Given the description of an element on the screen output the (x, y) to click on. 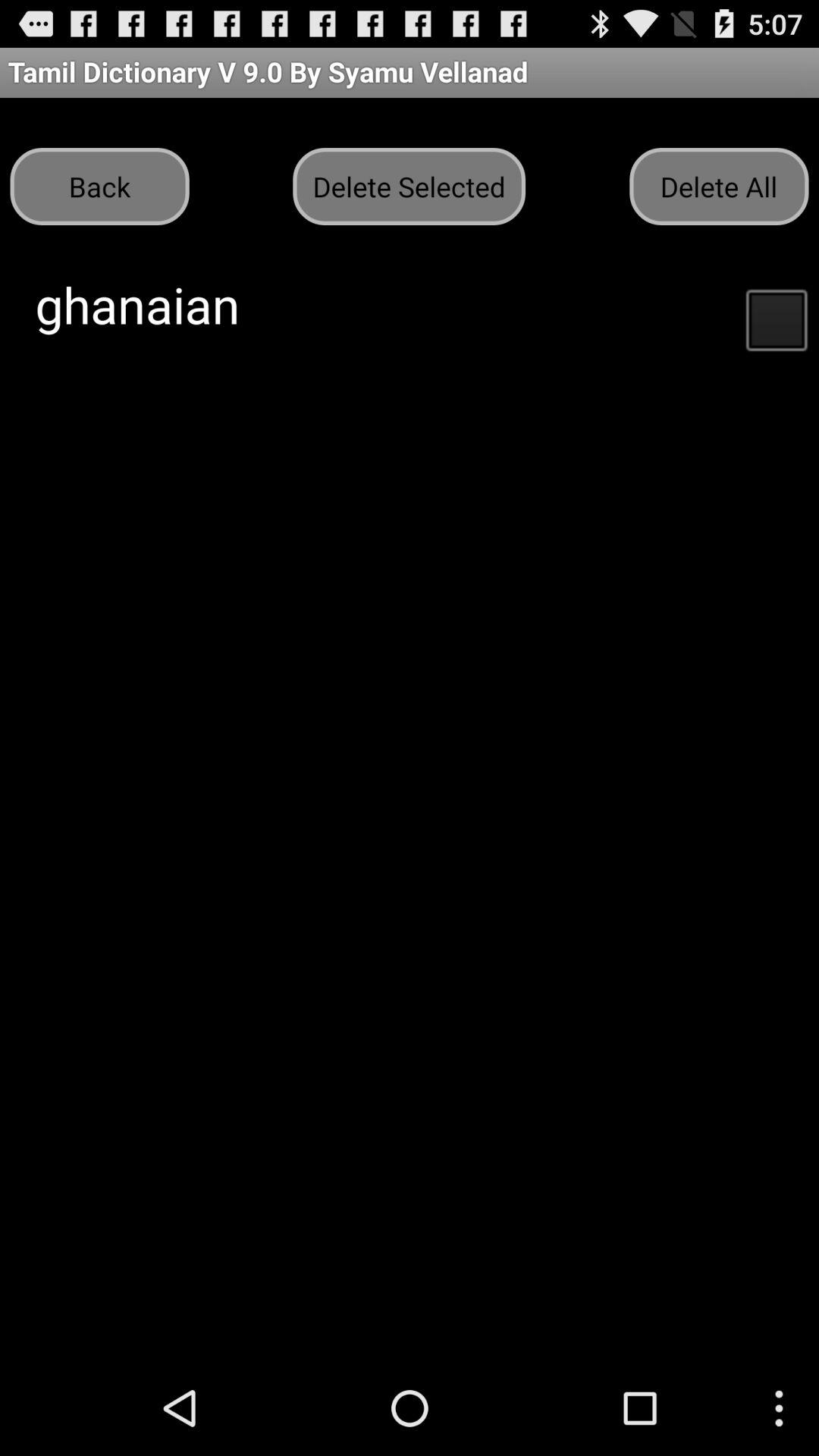
turn on the item next to back button (408, 186)
